Given the description of an element on the screen output the (x, y) to click on. 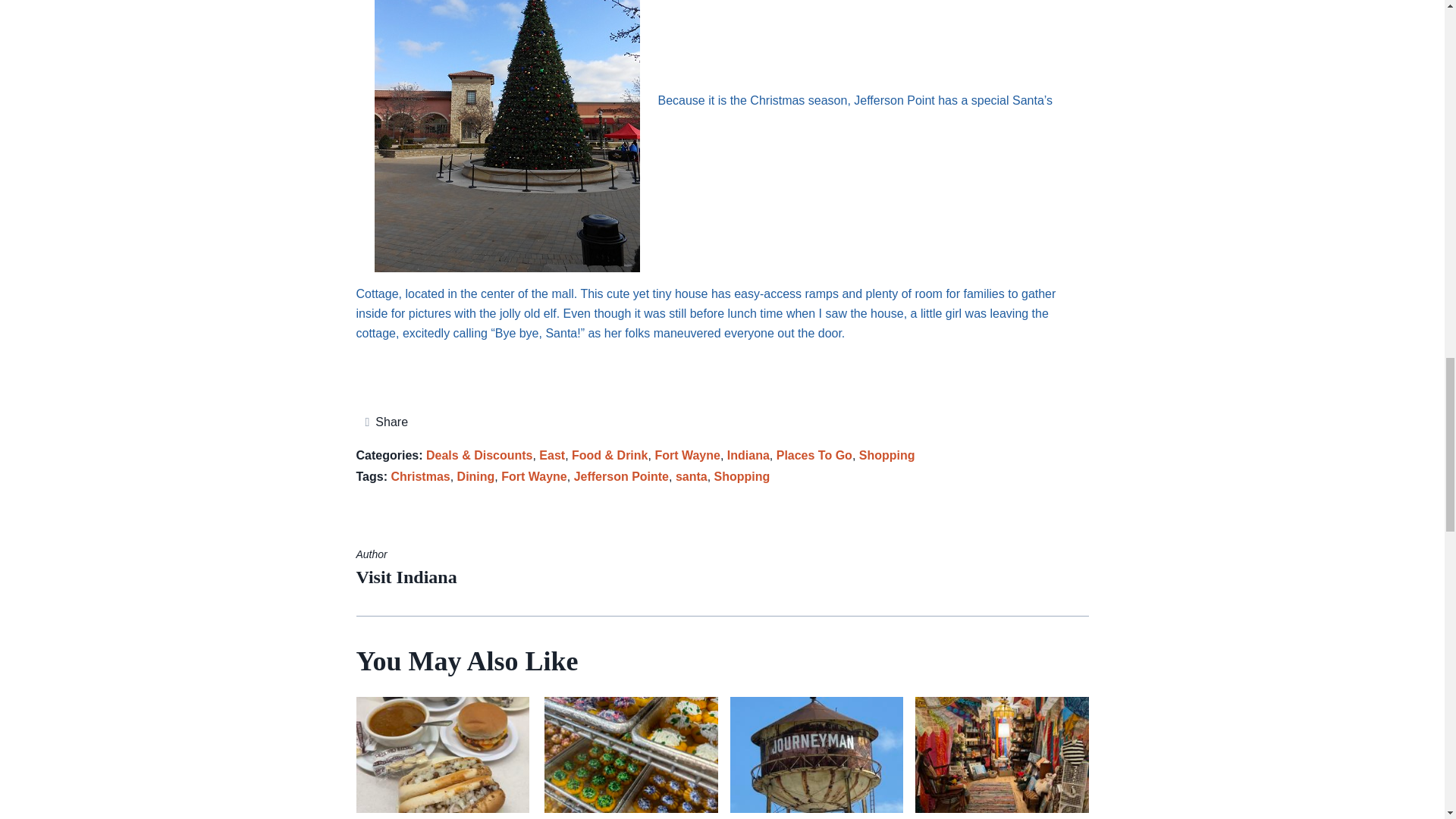
Giant Christmas (507, 135)
